Given the description of an element on the screen output the (x, y) to click on. 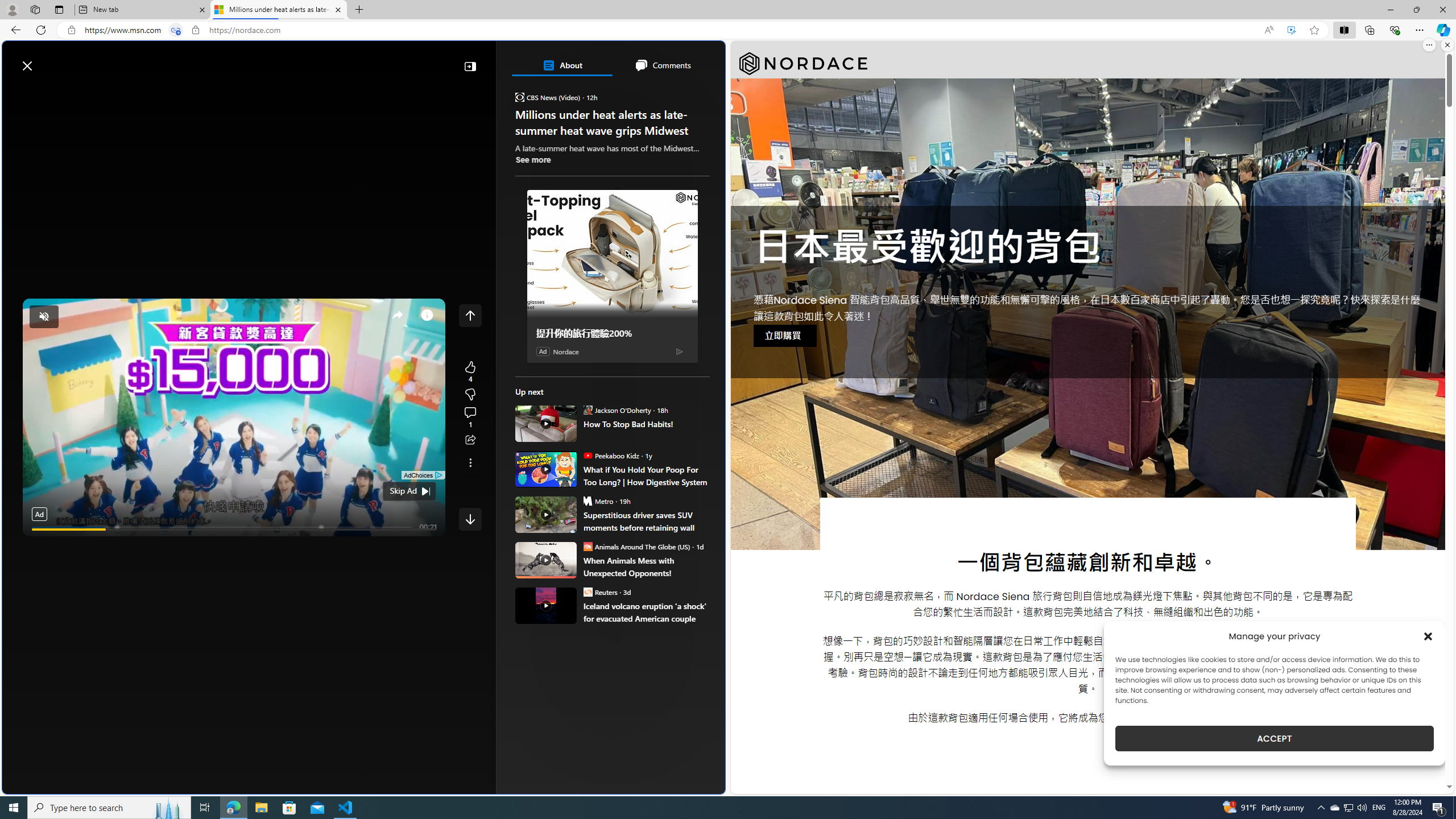
Share this story (469, 440)
Pause (38, 542)
